Given the description of an element on the screen output the (x, y) to click on. 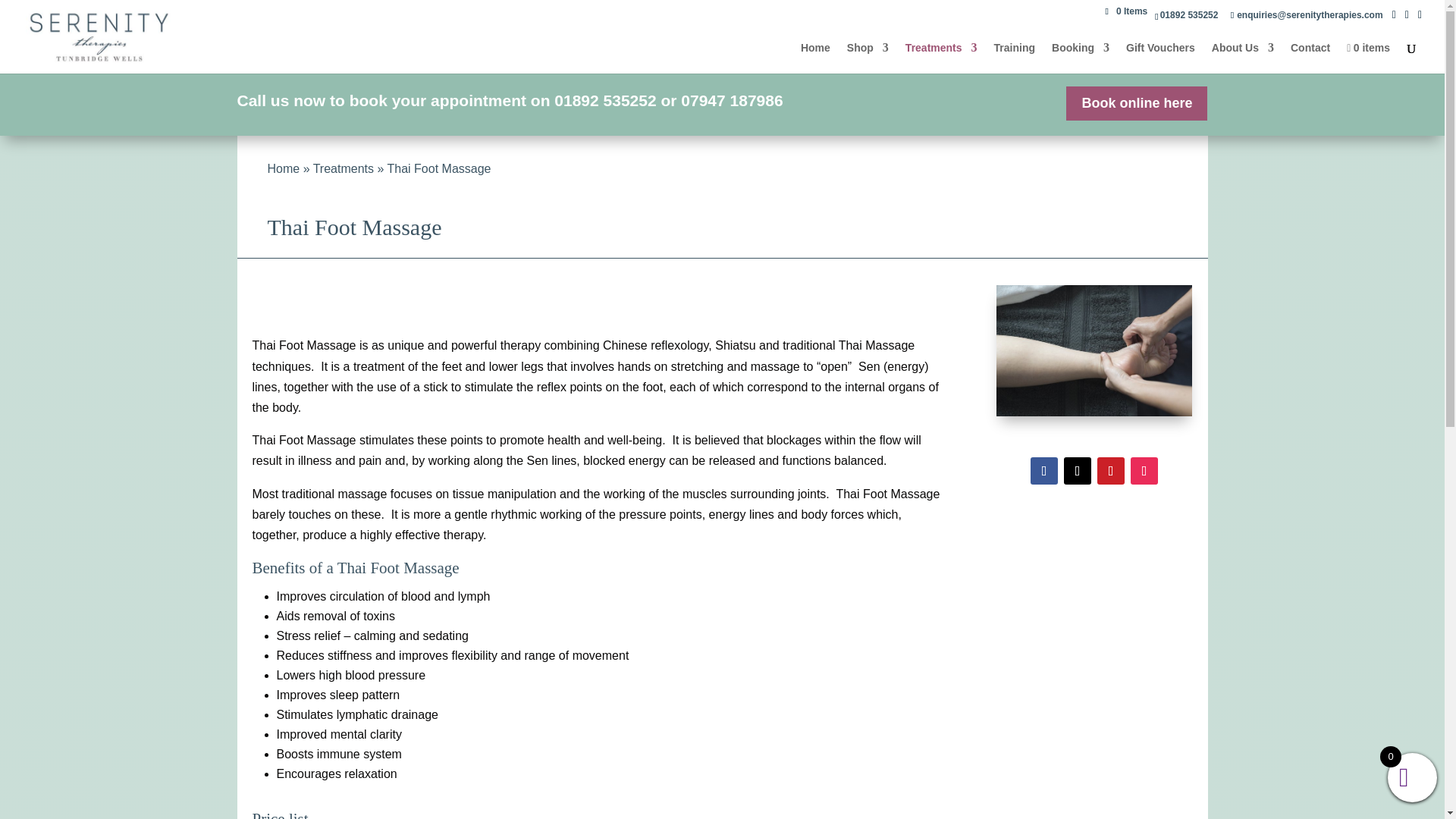
Follow on X (1077, 470)
Thai Foot Massage available at Serenity Therapies (1093, 411)
Treatments (940, 57)
Follow on Pinterest (1110, 470)
Home (814, 57)
Start shopping (1368, 57)
Thai Foot Massage available at Serenity Therapies (1093, 350)
Follow on Facebook (1044, 470)
Shop (867, 57)
Follow on Instagram (1144, 470)
0 Items (1126, 10)
